Given the description of an element on the screen output the (x, y) to click on. 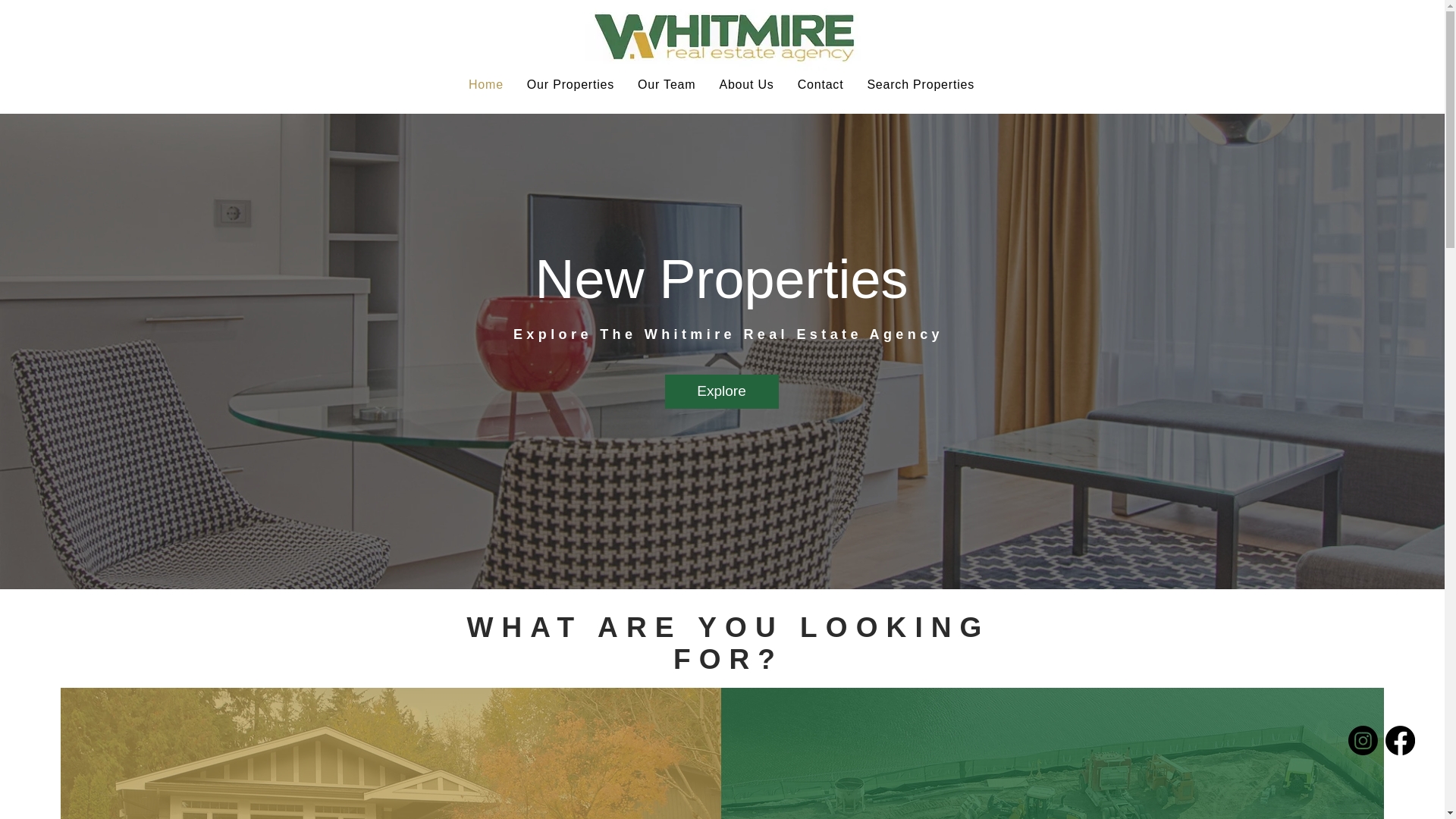
Explore (720, 391)
Search Properties (921, 84)
About Us (746, 84)
Home (486, 84)
Contact (820, 84)
Our Team (666, 84)
